Given the description of an element on the screen output the (x, y) to click on. 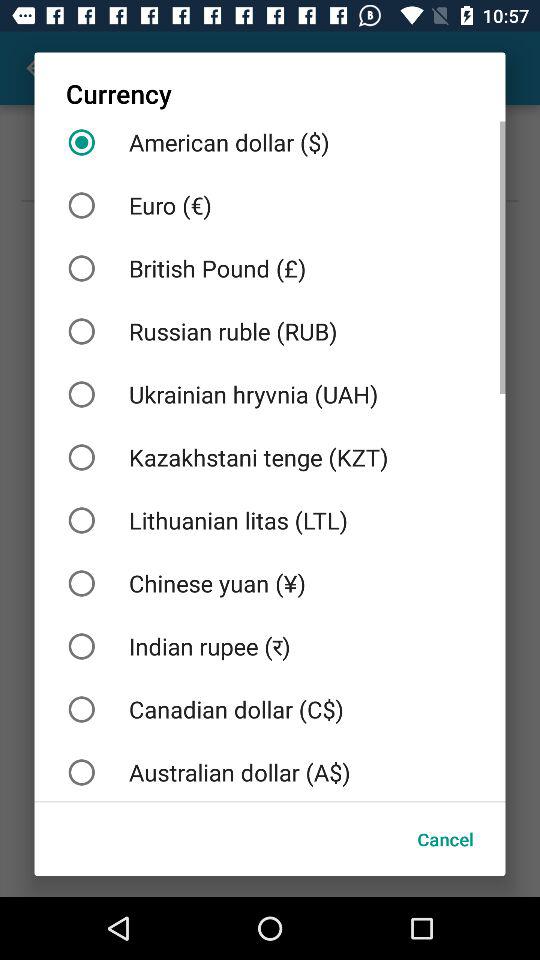
choose the icon at the bottom right corner (445, 838)
